Given the description of an element on the screen output the (x, y) to click on. 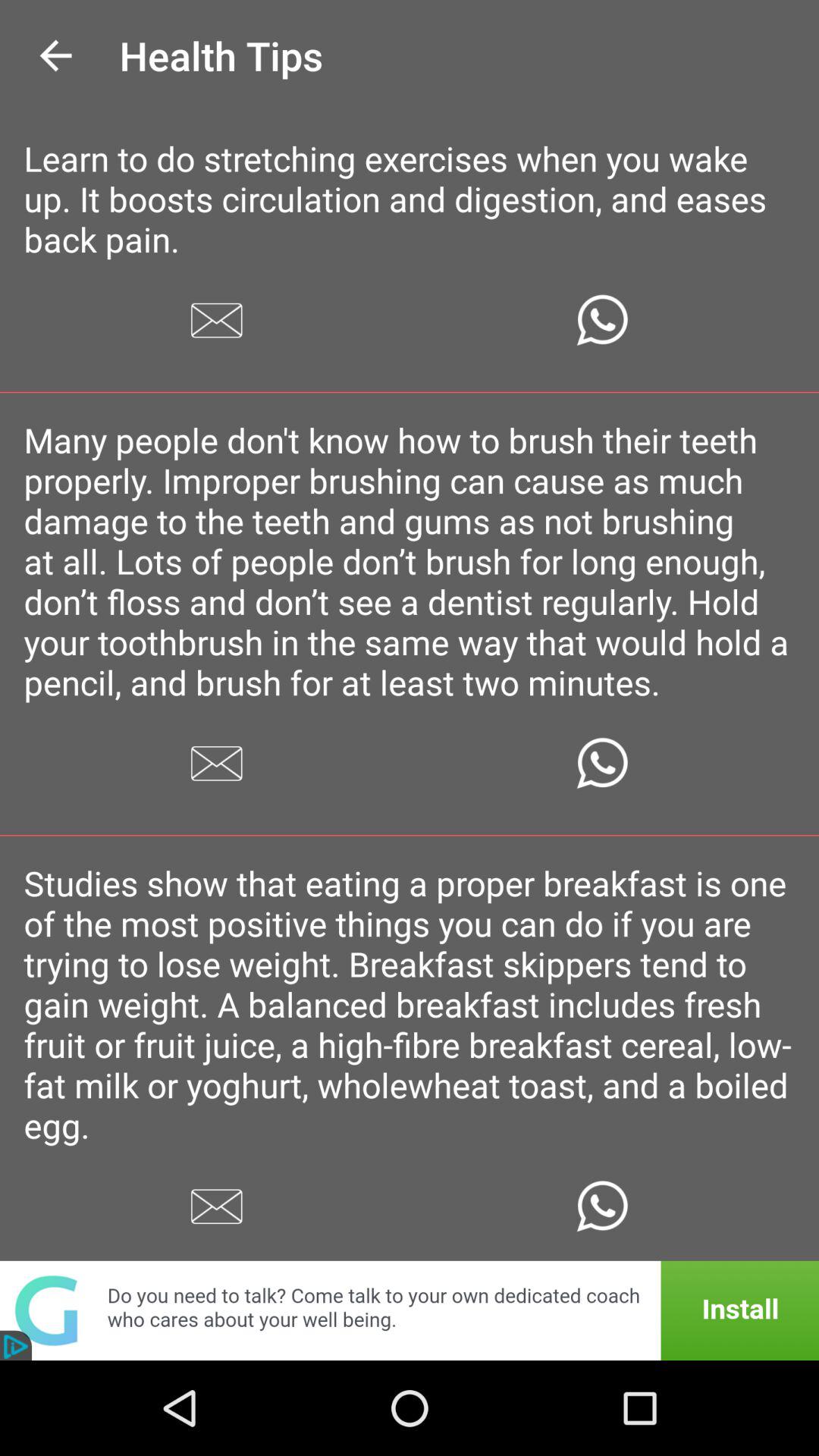
choose the icon to the left of the health tips icon (55, 55)
